Given the description of an element on the screen output the (x, y) to click on. 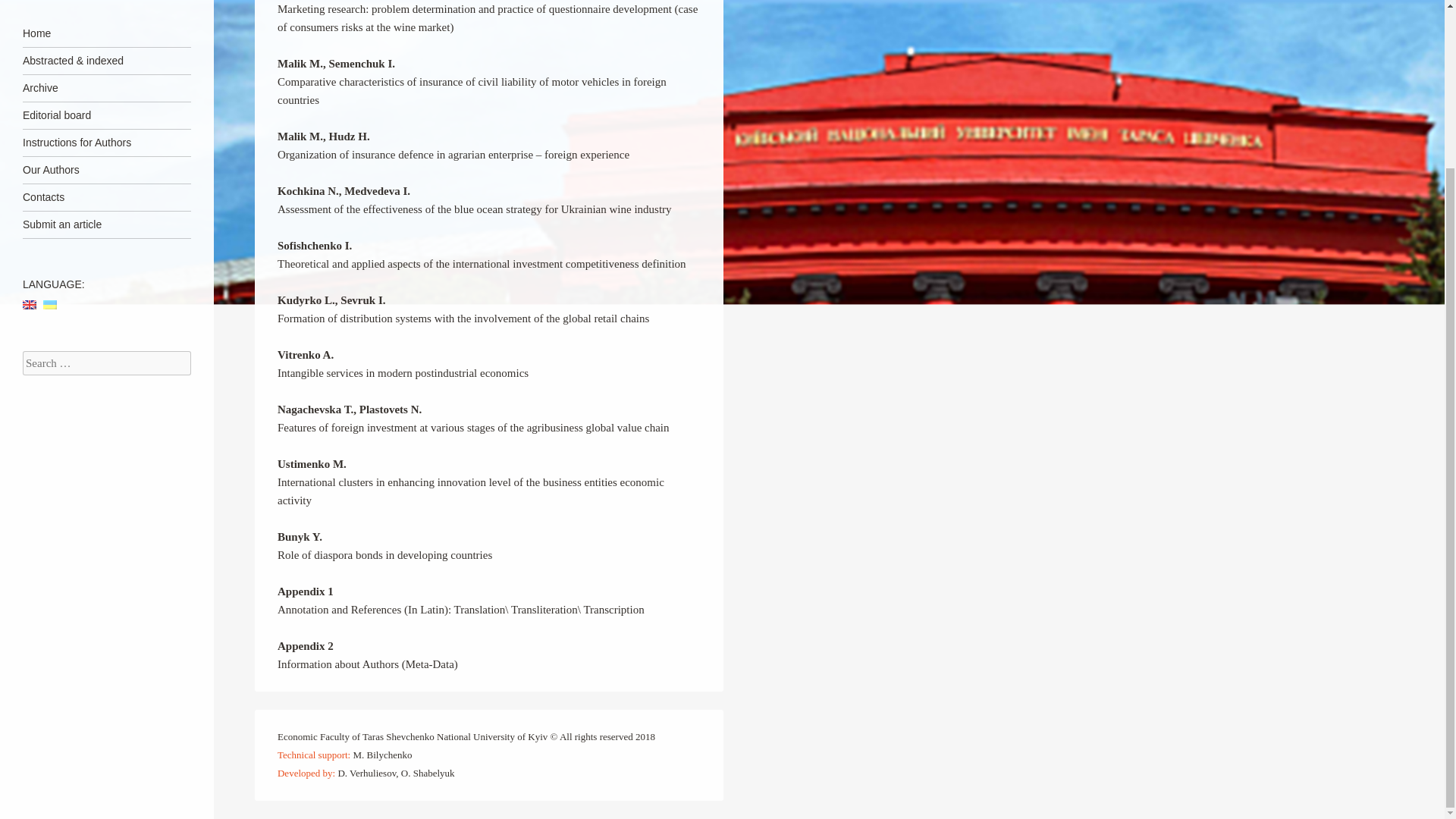
Skip to content (58, 33)
Our Authors (106, 170)
Contacts (106, 197)
Instructions for Authors (106, 142)
Archive (106, 88)
Home (106, 33)
Submit an article (106, 224)
Editorial board (106, 115)
Skip to content (58, 33)
